Given the description of an element on the screen output the (x, y) to click on. 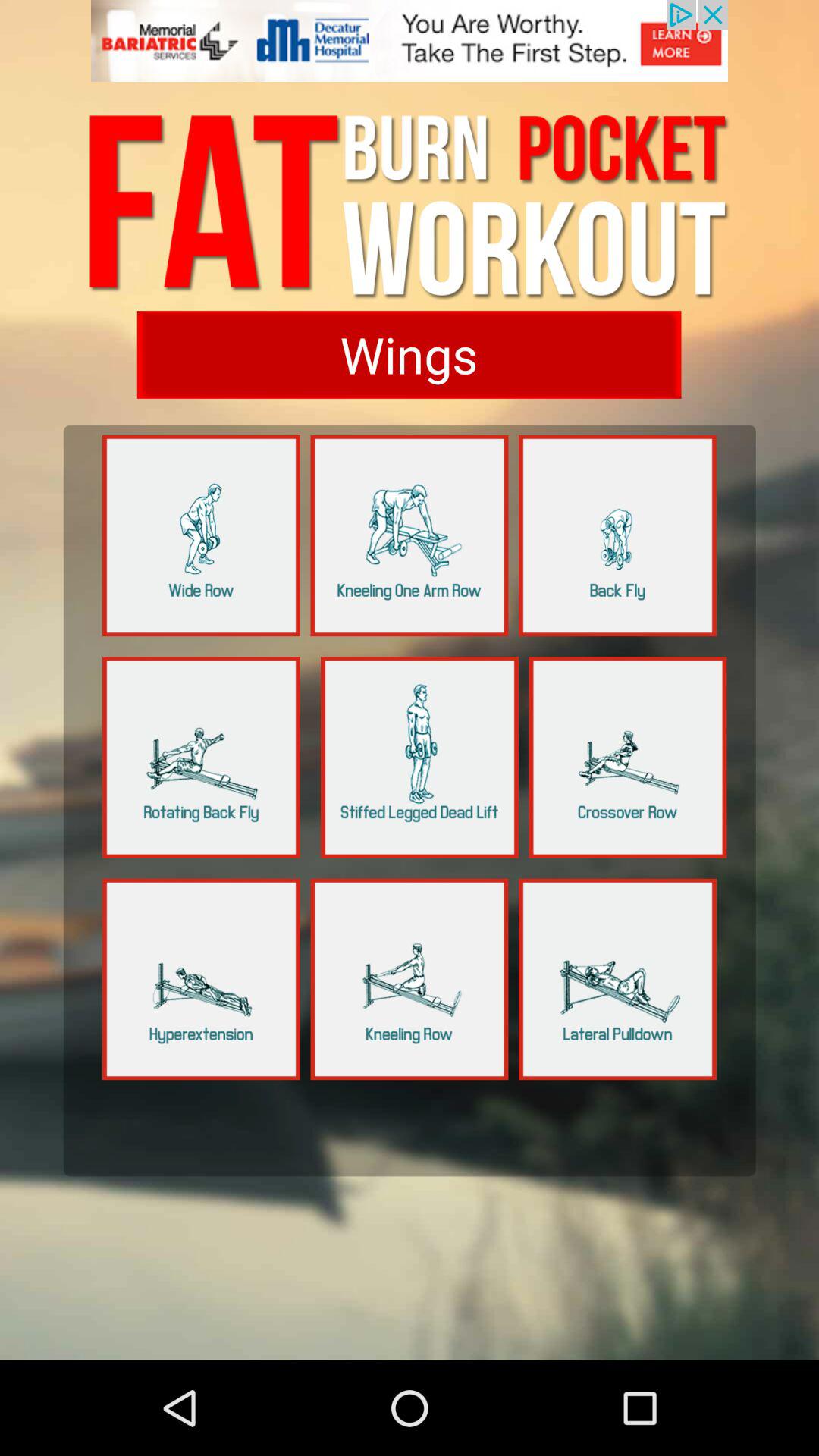
select excercise (627, 757)
